Given the description of an element on the screen output the (x, y) to click on. 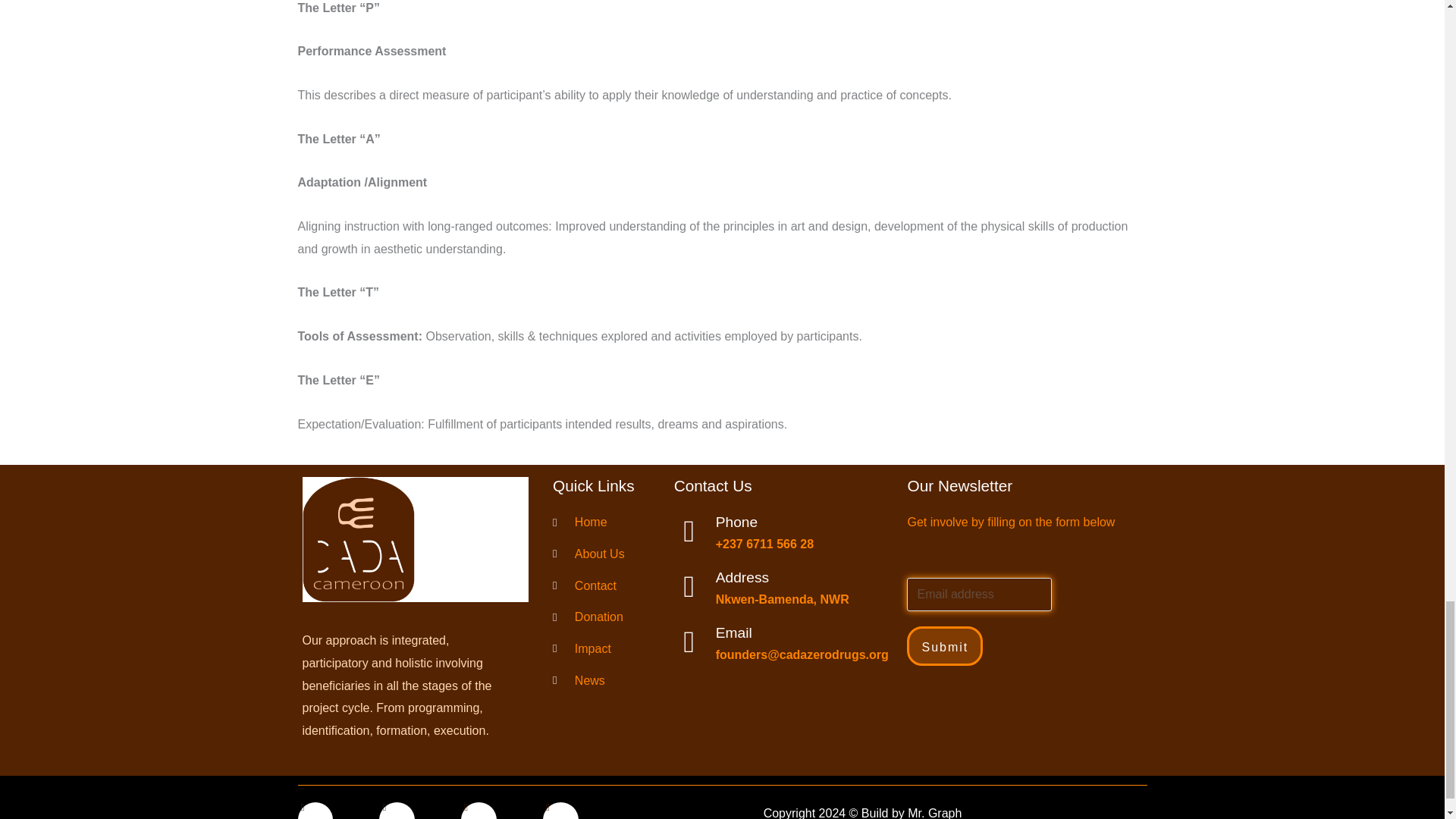
Donation (601, 617)
Contact (601, 585)
News (601, 680)
Instagram (478, 810)
Home (601, 522)
Submit (944, 645)
Facebook (315, 810)
Impact (601, 649)
Youtube (560, 810)
About Us (601, 553)
Twitter (396, 810)
